Given the description of an element on the screen output the (x, y) to click on. 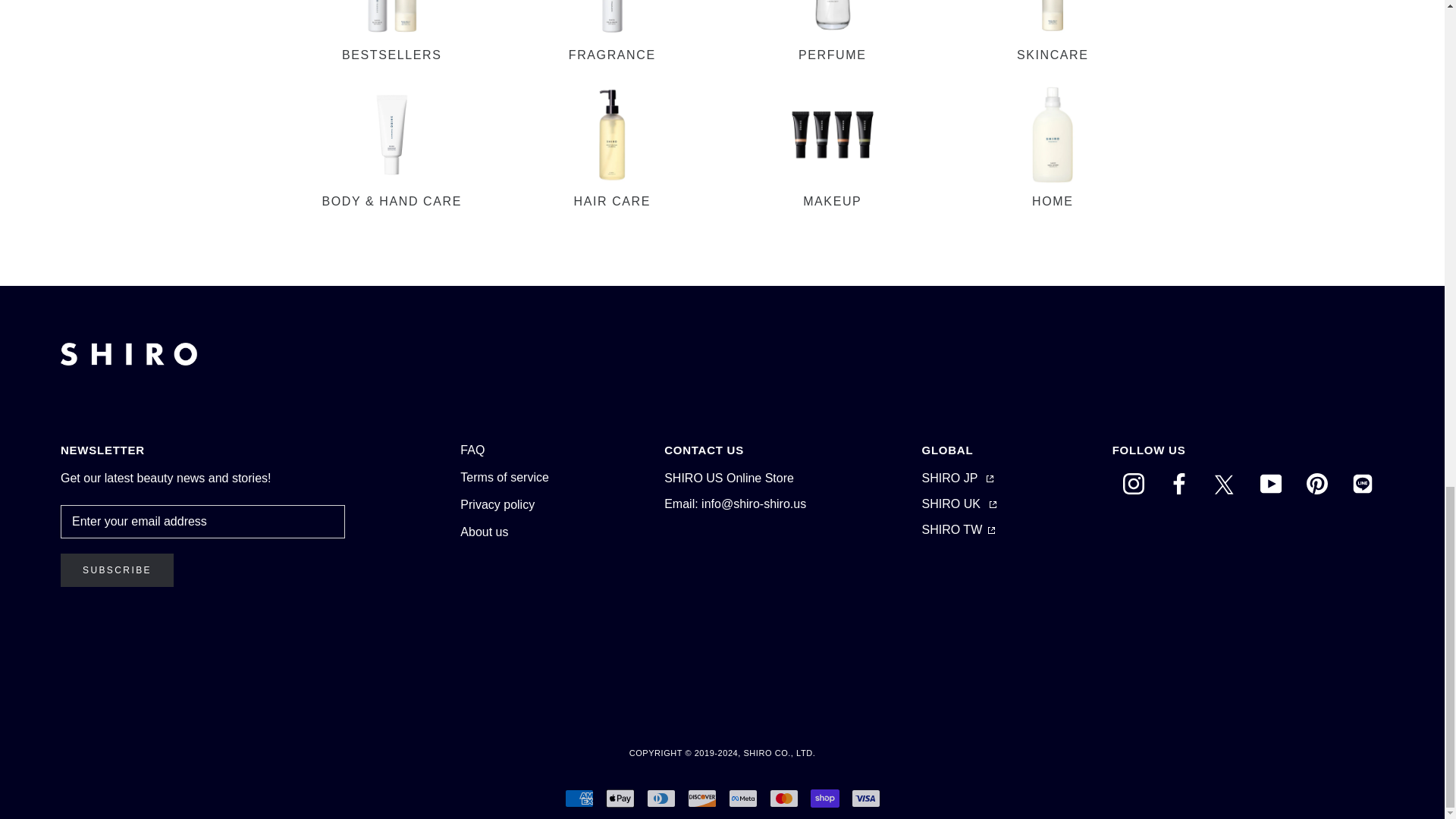
Visa (864, 798)
American Express (578, 798)
Shop Pay (823, 798)
Mastercard (782, 798)
Apple Pay (619, 798)
Discover (701, 798)
Diners Club (660, 798)
Meta Pay (742, 798)
